Given the description of an element on the screen output the (x, y) to click on. 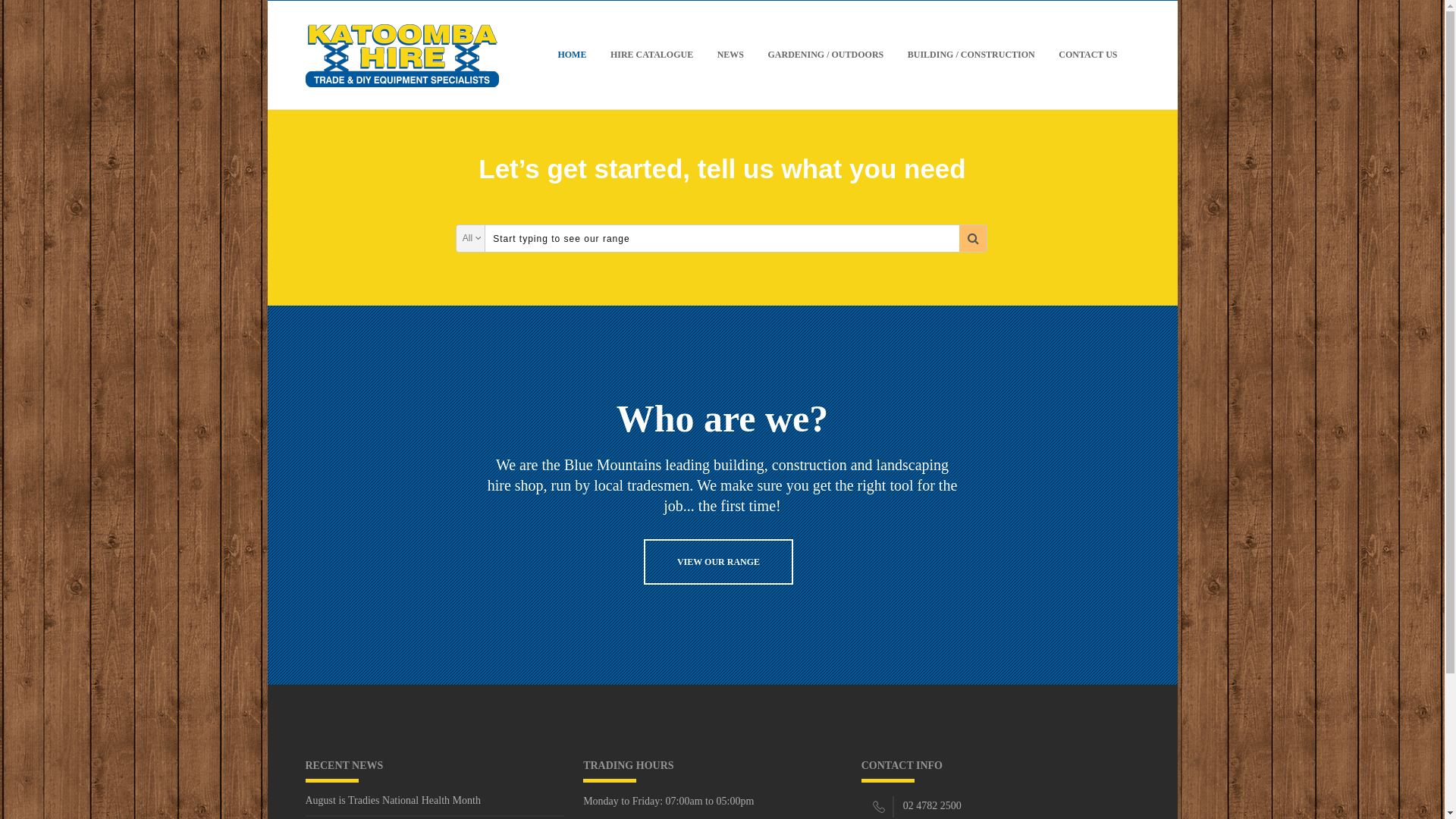
Katoomba Hire Element type: hover (401, 54)
NEWS Element type: text (729, 54)
BUILDING / CONSTRUCTION Element type: text (970, 54)
GARDENING / OUTDOORS Element type: text (825, 54)
HOME Element type: text (571, 54)
August is Tradies National Health Month Element type: text (434, 804)
CONTACT US Element type: text (1087, 54)
HIRE CATALOGUE Element type: text (650, 54)
VIEW OUR RANGE Element type: text (718, 561)
